Given the description of an element on the screen output the (x, y) to click on. 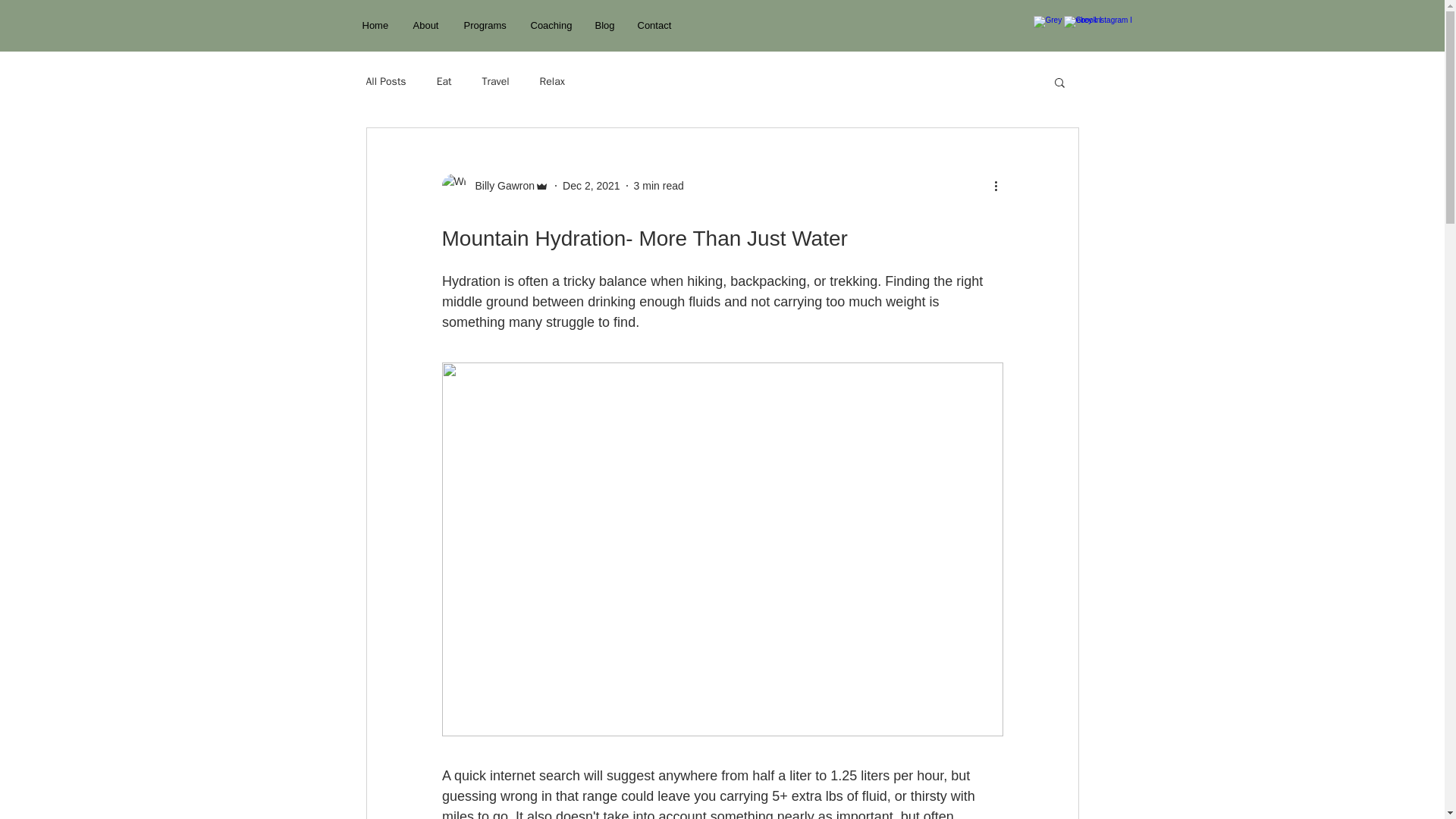
Relax (552, 81)
Travel (495, 81)
Home (375, 25)
Contact (655, 25)
Billy Gawron (499, 185)
Eat (443, 81)
Coaching (550, 25)
Blog (604, 25)
All Posts (385, 81)
3 min read (658, 184)
